Given the description of an element on the screen output the (x, y) to click on. 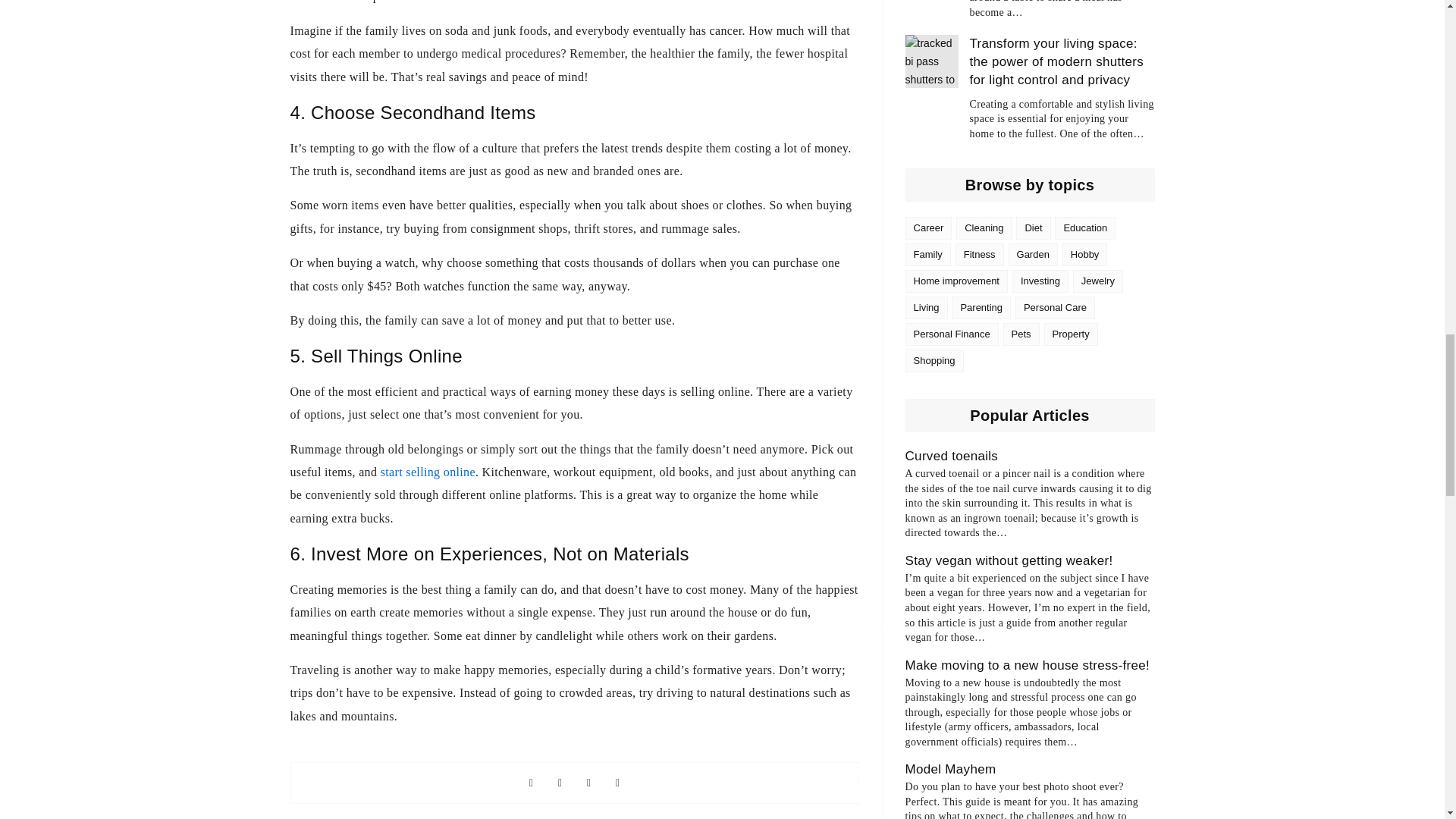
Share on Facebook (530, 782)
Share on Twitter (558, 782)
start selling online (428, 472)
Share on Reddit (616, 782)
Share on Pinterest (587, 782)
